Given the description of an element on the screen output the (x, y) to click on. 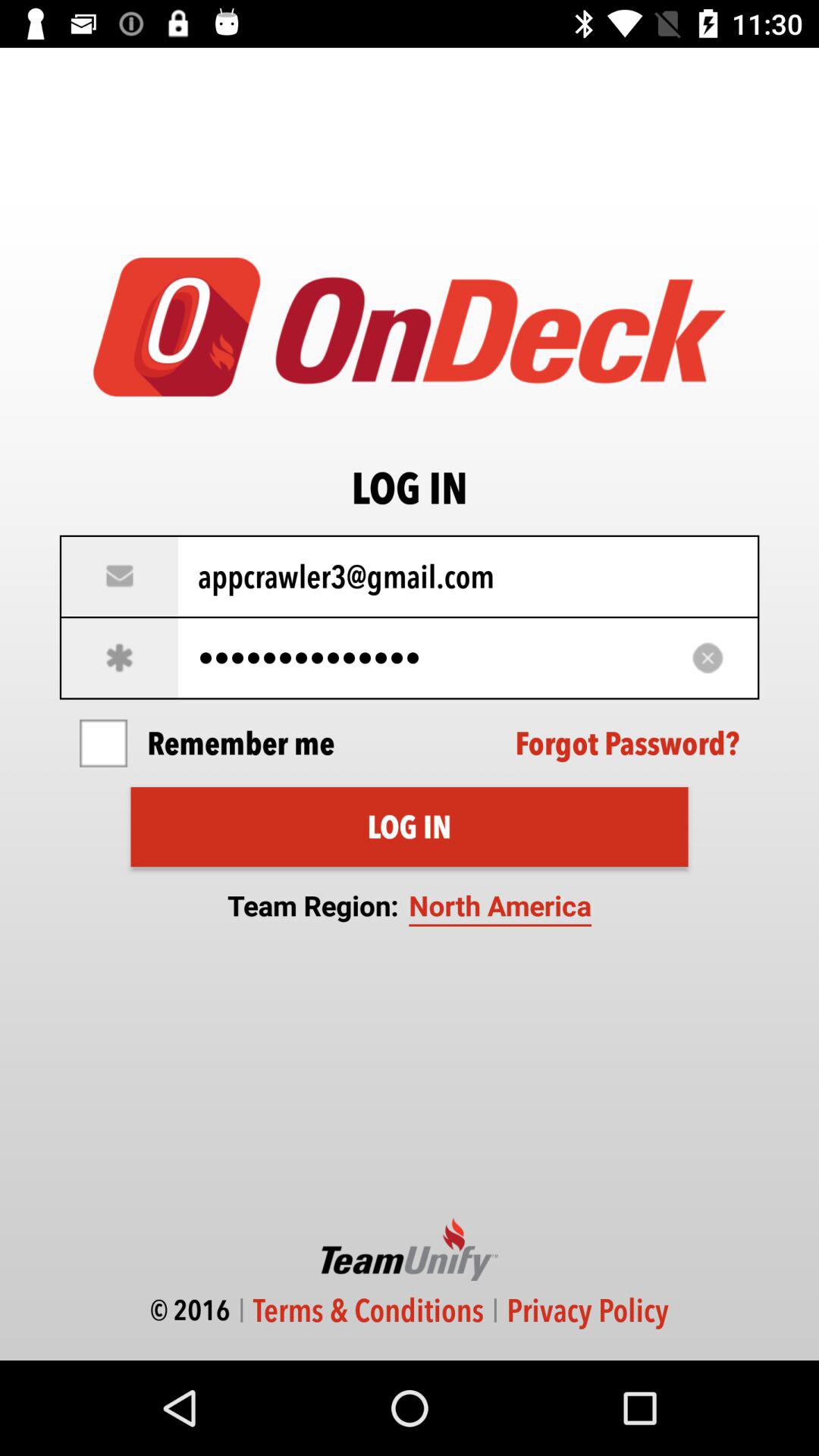
choose icon on the right (627, 743)
